Given the description of an element on the screen output the (x, y) to click on. 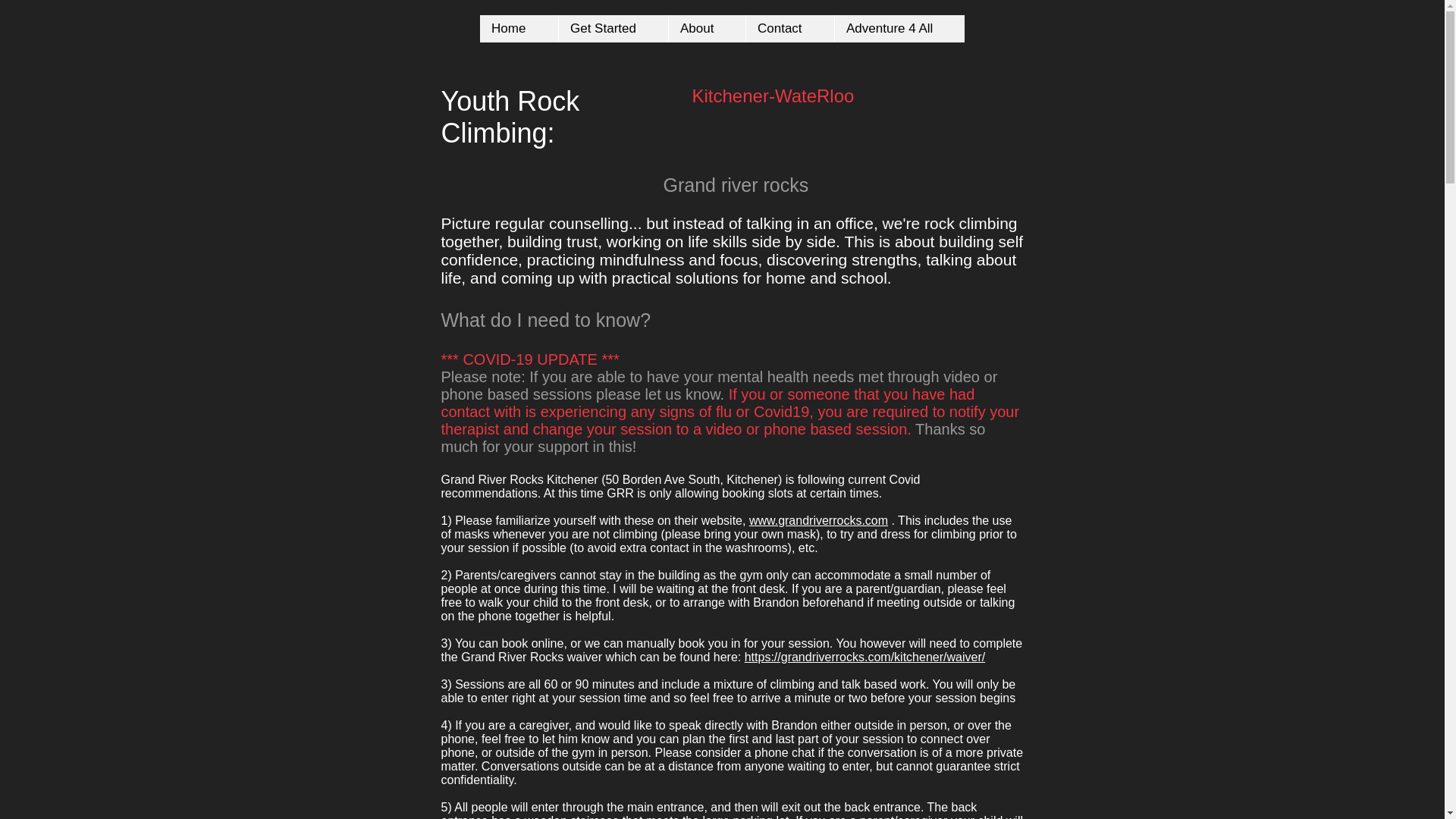
www.grandriverrocks.com (818, 520)
Contact (789, 28)
Home (518, 28)
Adventure 4 All (898, 28)
About (706, 28)
